Given the description of an element on the screen output the (x, y) to click on. 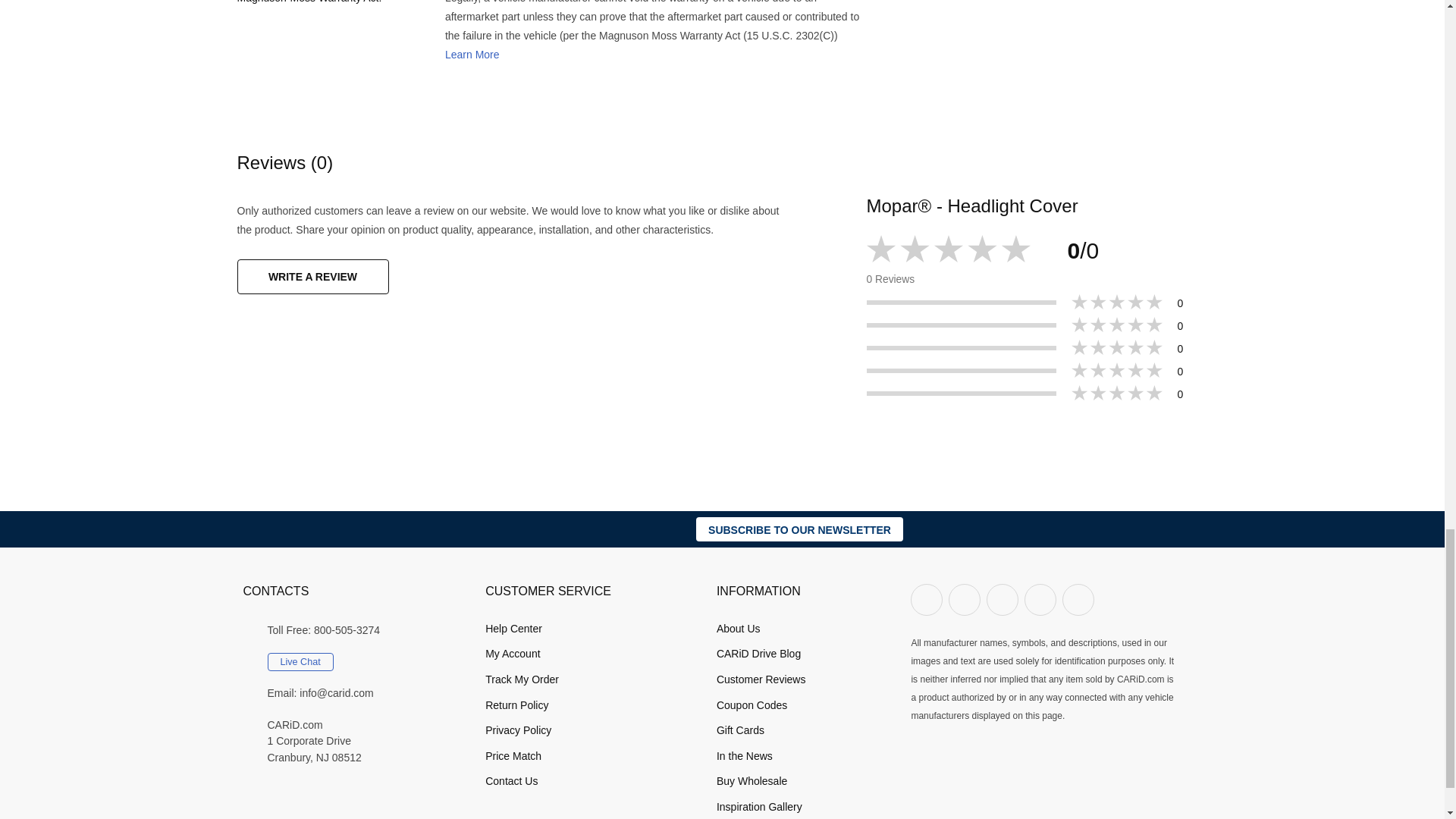
SUBSCRIBE TO OUR NEWSLETTER (798, 528)
WRITE A REVIEW (311, 276)
800-505-3274 (347, 630)
